Given the description of an element on the screen output the (x, y) to click on. 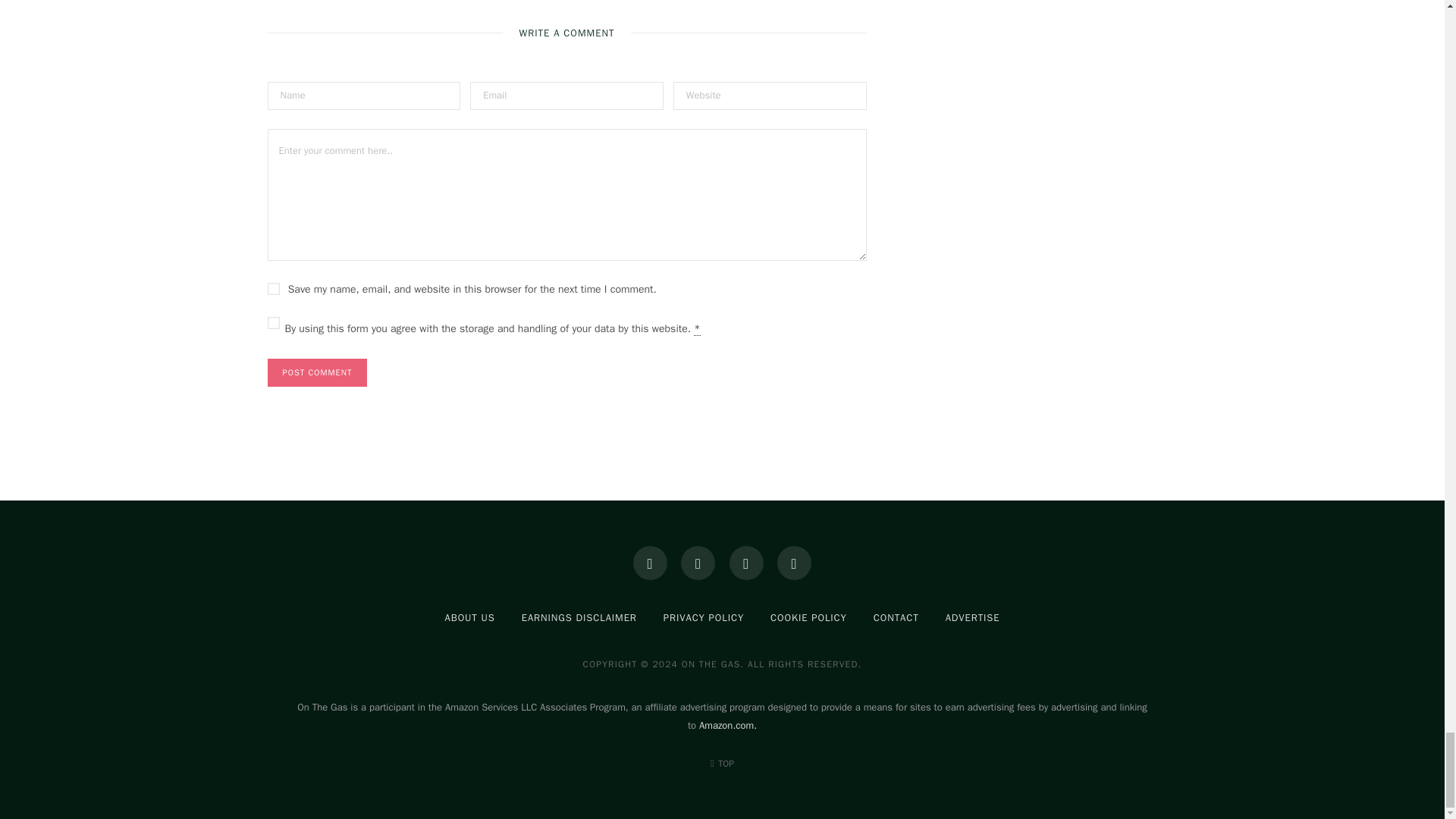
Post Comment (316, 372)
Facebook (649, 562)
Pinterest (745, 562)
yes (272, 288)
1 (272, 322)
Instagram (697, 562)
